Given the description of an element on the screen output the (x, y) to click on. 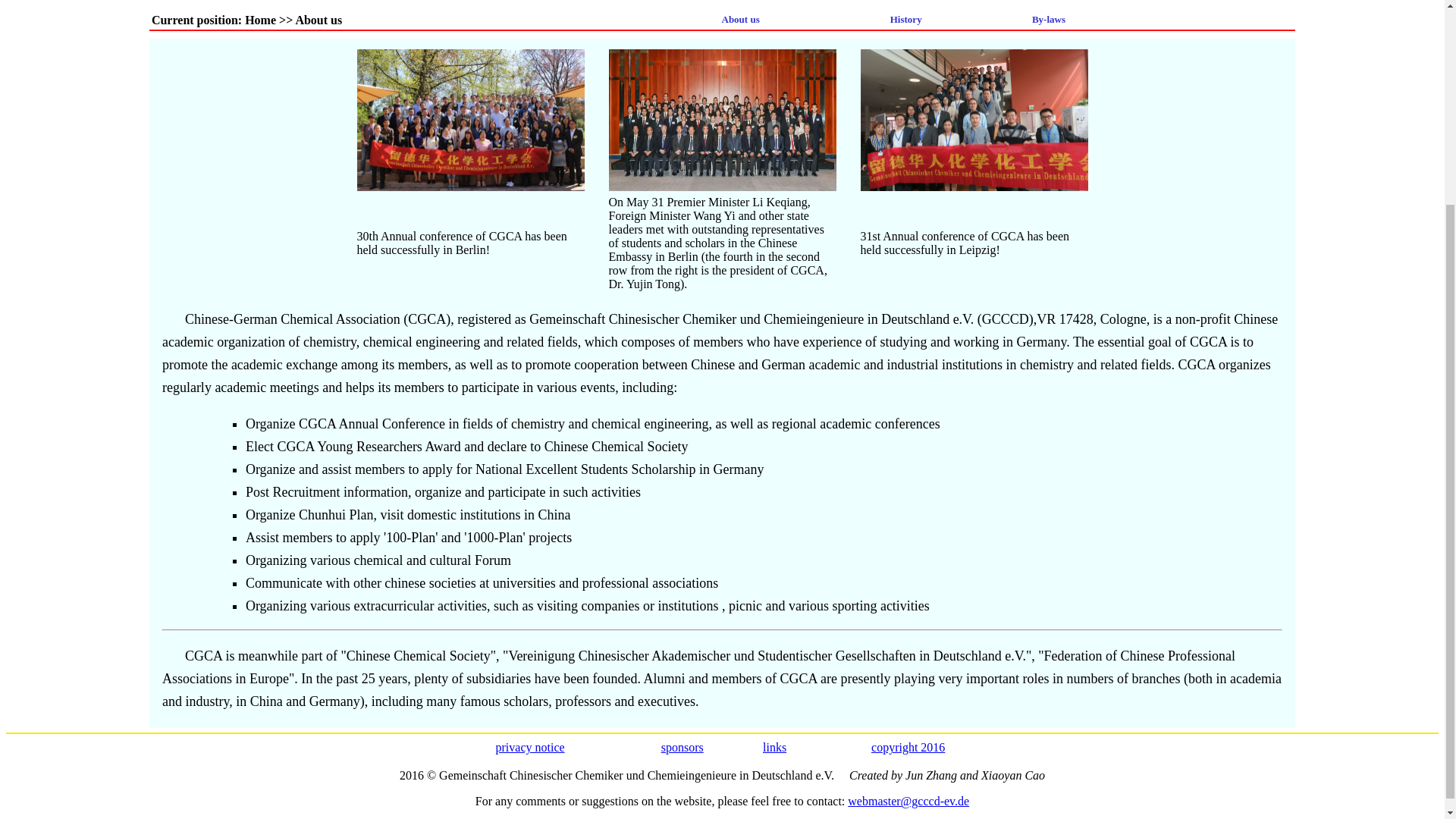
privacy notice (530, 747)
By-laws (1048, 19)
sponsors (682, 747)
links (774, 747)
About us (741, 19)
copyright 2016 (907, 747)
History (905, 19)
The 10th CGCA-EAST Annual Conference was held. (469, 120)
